Given the description of an element on the screen output the (x, y) to click on. 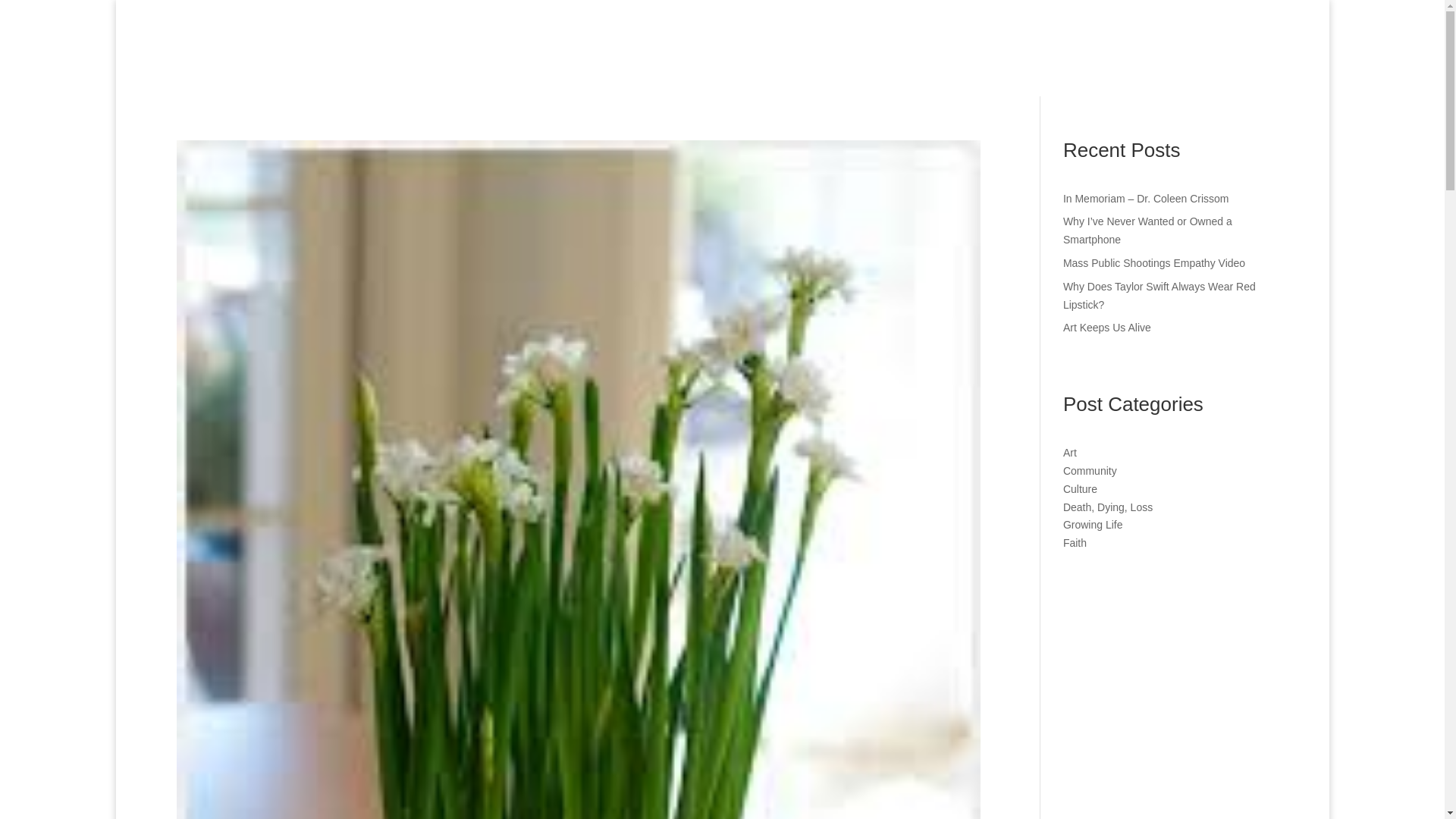
HOME (806, 50)
CONTACT (1278, 50)
BOOKS (875, 50)
signature-logo (272, 47)
